Given the description of an element on the screen output the (x, y) to click on. 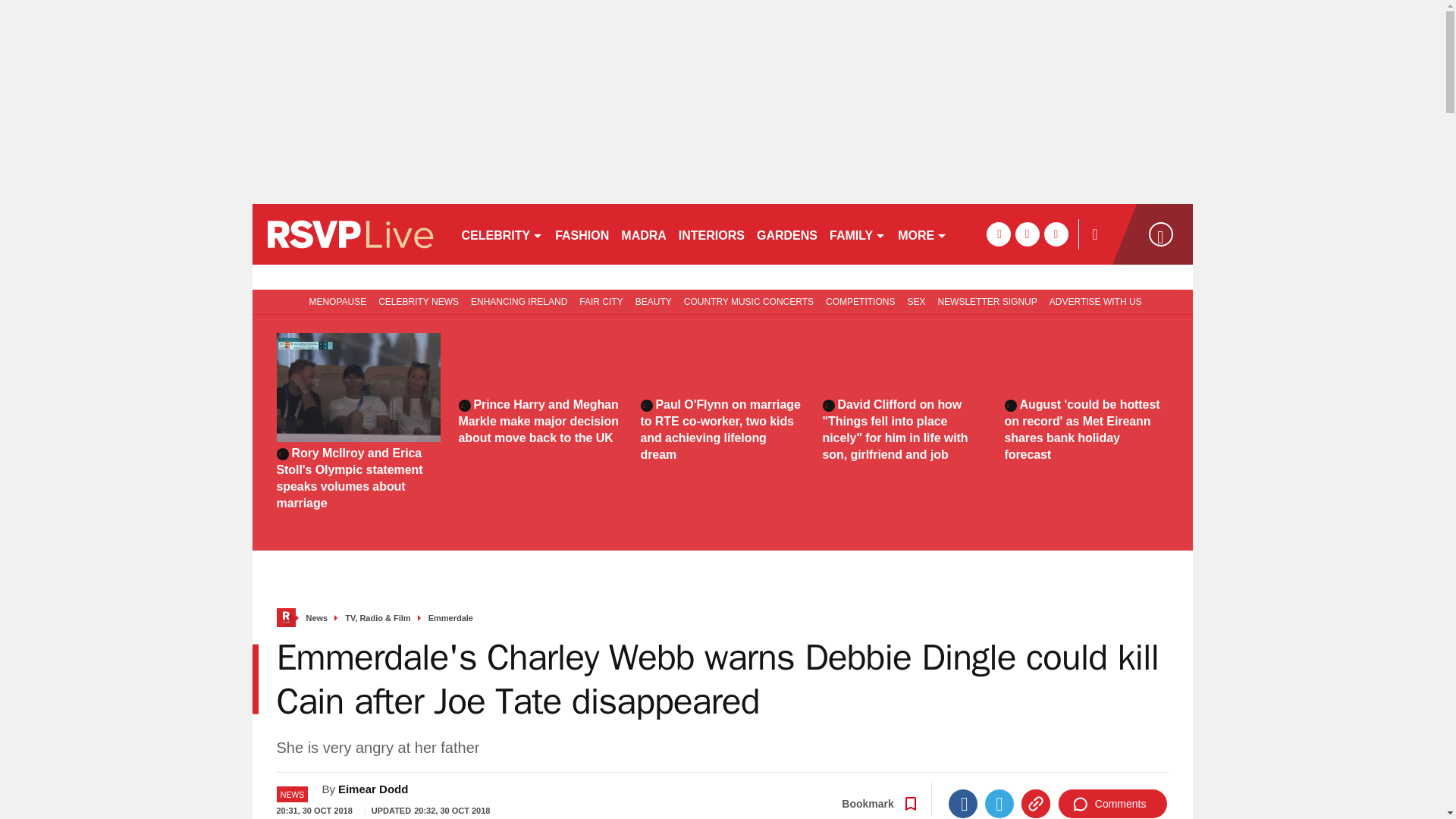
GARDENS (787, 233)
twitter (1026, 233)
MORE (922, 233)
facebook (997, 233)
FASHION (581, 233)
FAMILY (857, 233)
Comments (1112, 803)
INTERIORS (711, 233)
rsvp (348, 233)
Facebook (962, 803)
CELEBRITY (501, 233)
Twitter (999, 803)
MADRA (643, 233)
instagram (1055, 233)
